Given the description of an element on the screen output the (x, y) to click on. 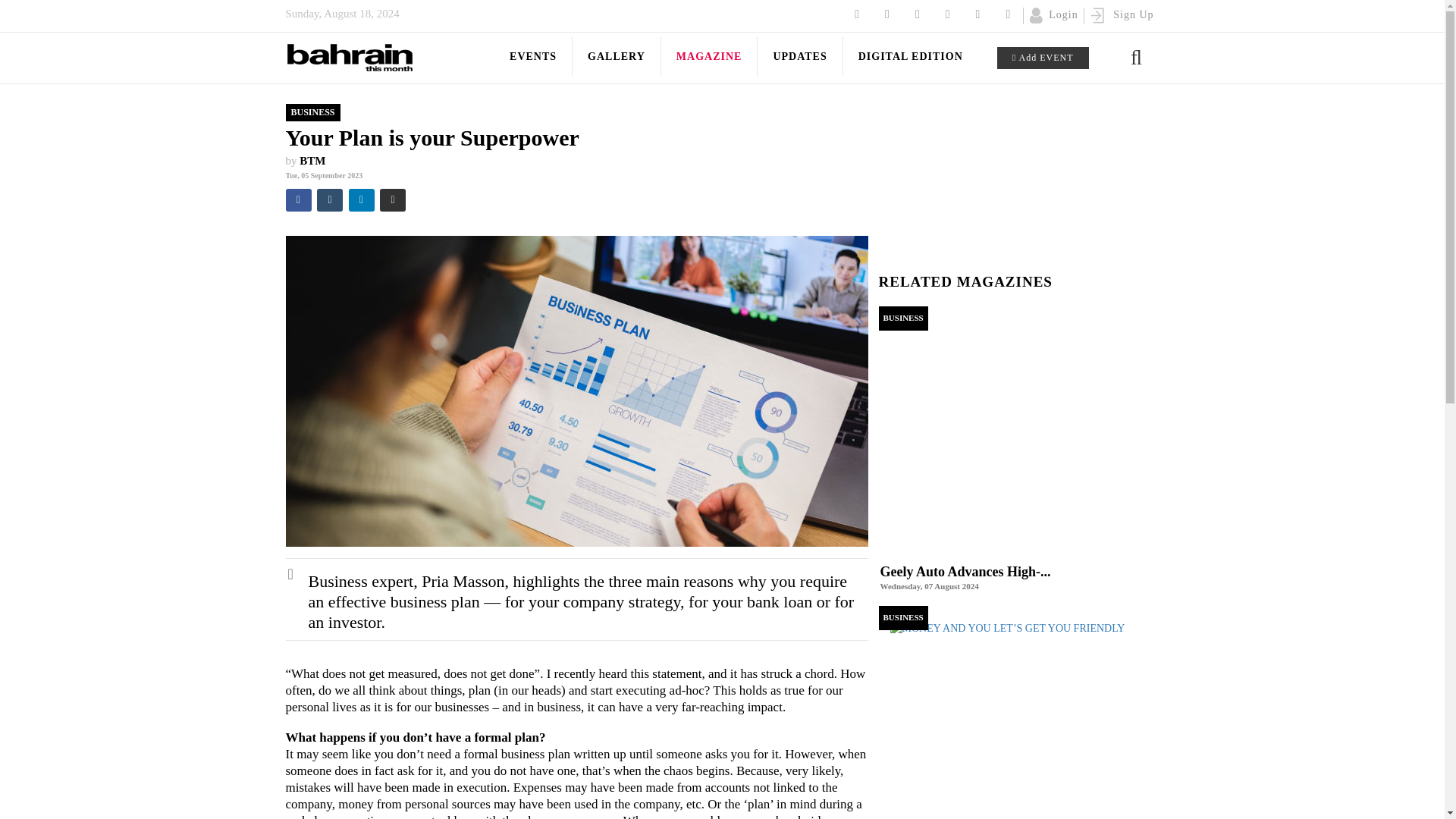
EVENTS (533, 56)
Login (1053, 14)
Sign Up (1121, 14)
